Given the description of an element on the screen output the (x, y) to click on. 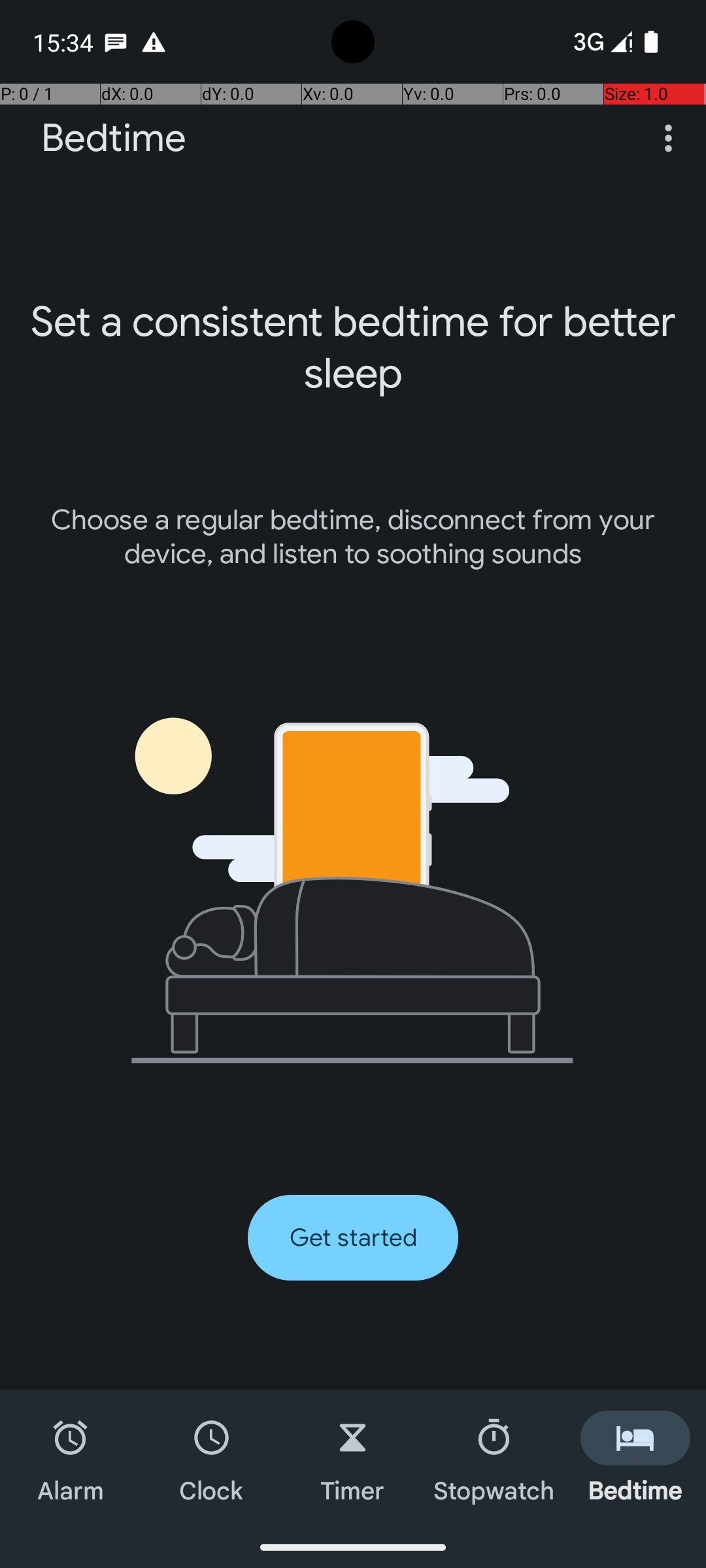
Set a consistent bedtime for better sleep Element type: android.widget.TextView (352, 347)
Choose a regular bedtime, disconnect from your device, and listen to soothing sounds Element type: android.widget.TextView (352, 536)
